Given the description of an element on the screen output the (x, y) to click on. 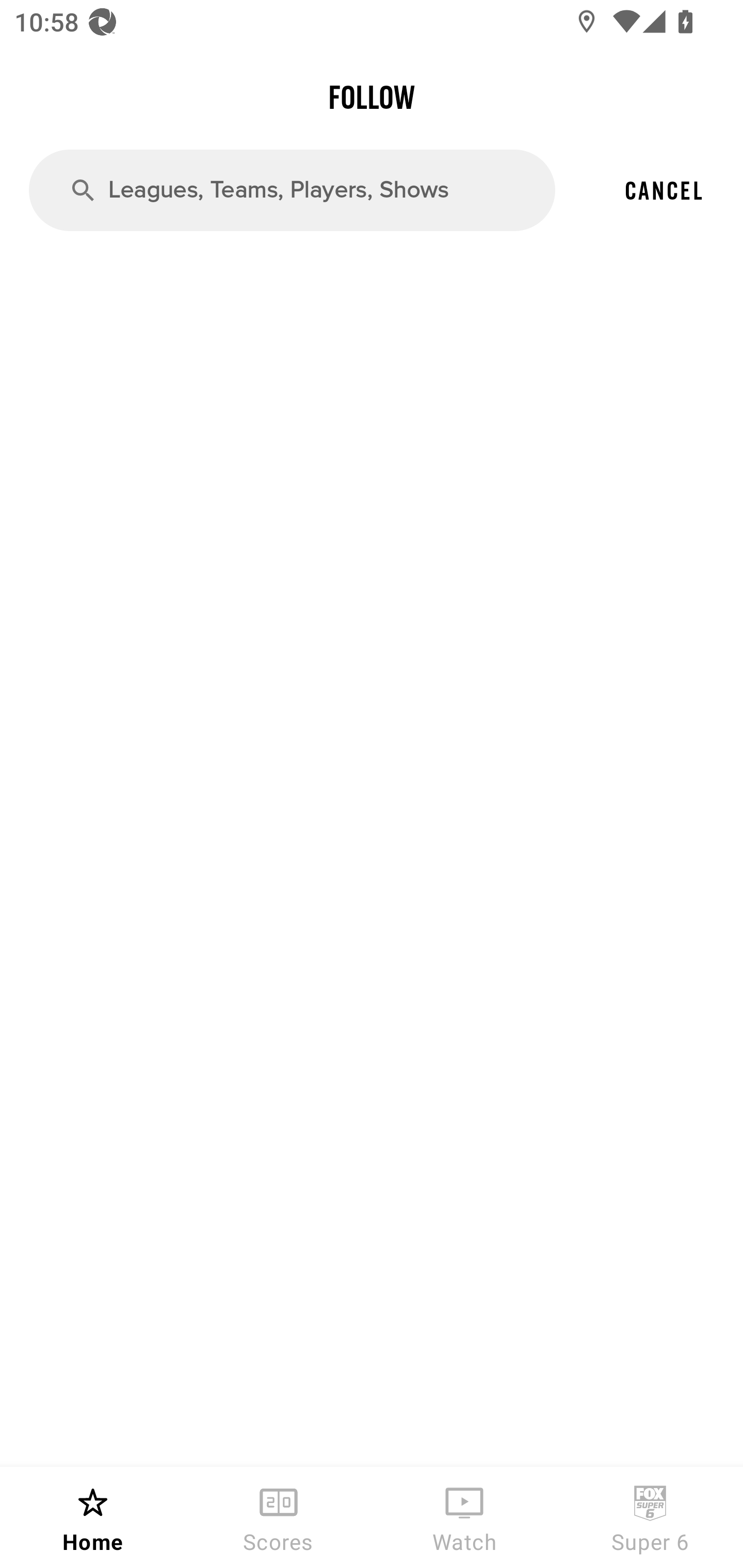
CANCEL (663, 190)
Leagues, Teams, Players, Shows (291, 189)
Scores (278, 1517)
Watch (464, 1517)
Super 6 (650, 1517)
